Given the description of an element on the screen output the (x, y) to click on. 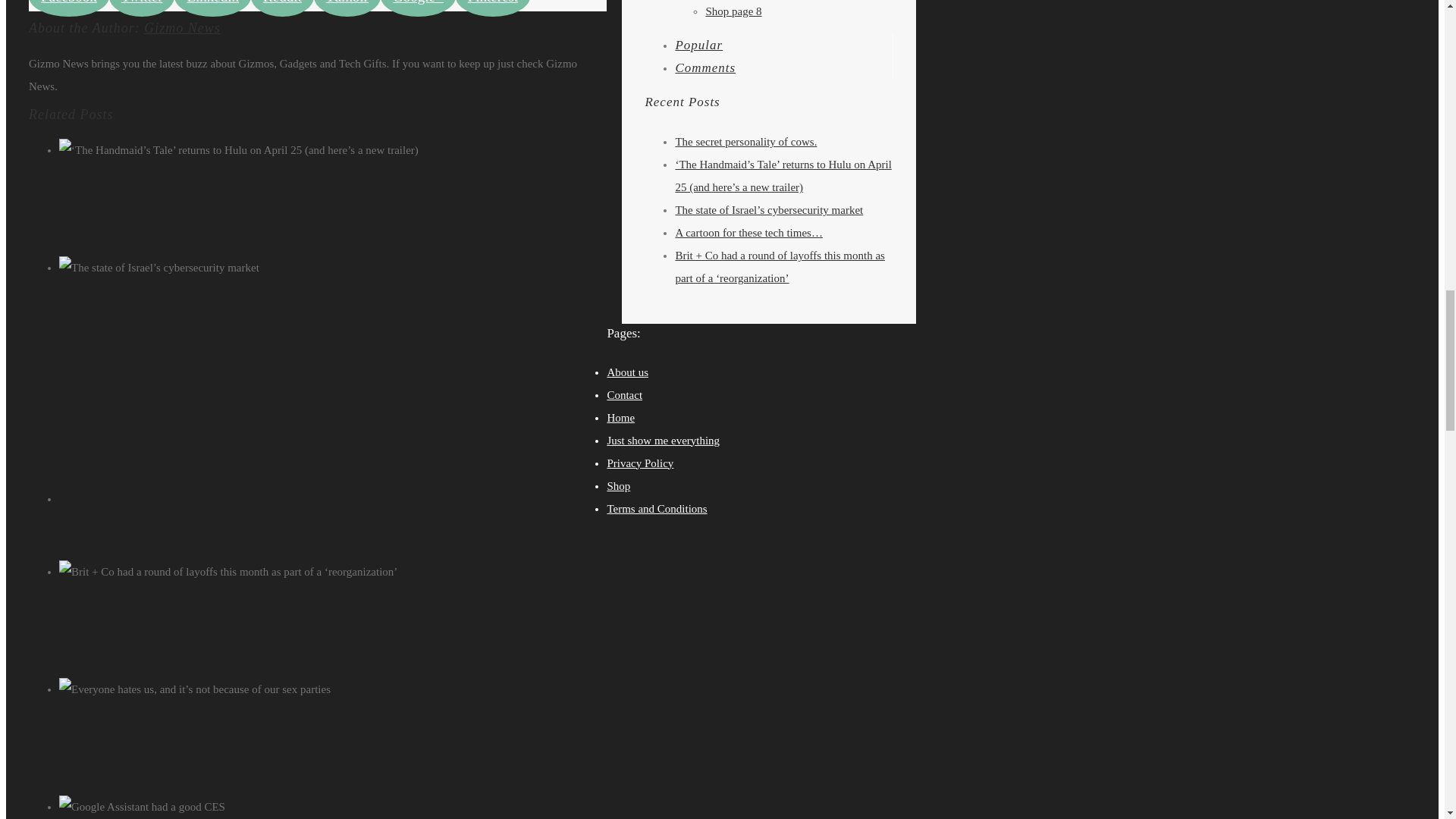
Gallery (349, 616)
Twitter (141, 8)
Gallery (349, 313)
Posts by Gizmo News (182, 28)
Permalink (356, 290)
Tumblr (347, 8)
Reddit (282, 8)
Tumblr (347, 8)
Gizmo News (182, 28)
Permalink (356, 711)
